Given the description of an element on the screen output the (x, y) to click on. 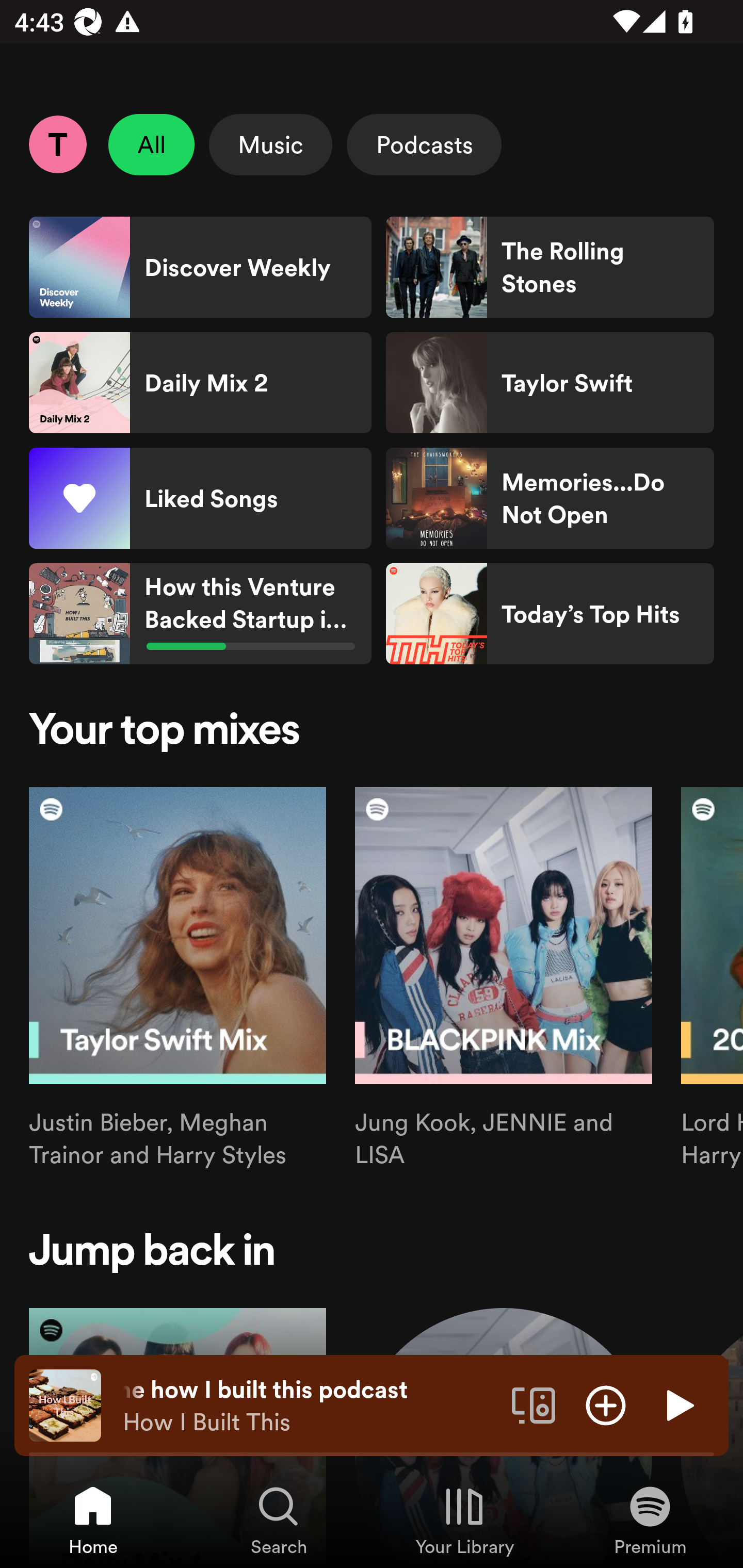
Profile (57, 144)
All Unselect All (151, 144)
Music Select Music (270, 144)
Podcasts Select Podcasts (423, 144)
Discover Weekly Shortcut Discover Weekly (199, 267)
The Rolling Stones Shortcut The Rolling Stones (549, 267)
Daily Mix 2 Shortcut Daily Mix 2 (199, 382)
Taylor Swift Shortcut Taylor Swift (549, 382)
Liked Songs Shortcut Liked Songs (199, 498)
Today’s Top Hits Shortcut Today’s Top Hits (549, 613)
The cover art of the currently playing track (64, 1404)
Connect to a device. Opens the devices menu (533, 1404)
Add item (605, 1404)
Play (677, 1404)
Home, Tab 1 of 4 Home Home (92, 1519)
Search, Tab 2 of 4 Search Search (278, 1519)
Your Library, Tab 3 of 4 Your Library Your Library (464, 1519)
Premium, Tab 4 of 4 Premium Premium (650, 1519)
